Given the description of an element on the screen output the (x, y) to click on. 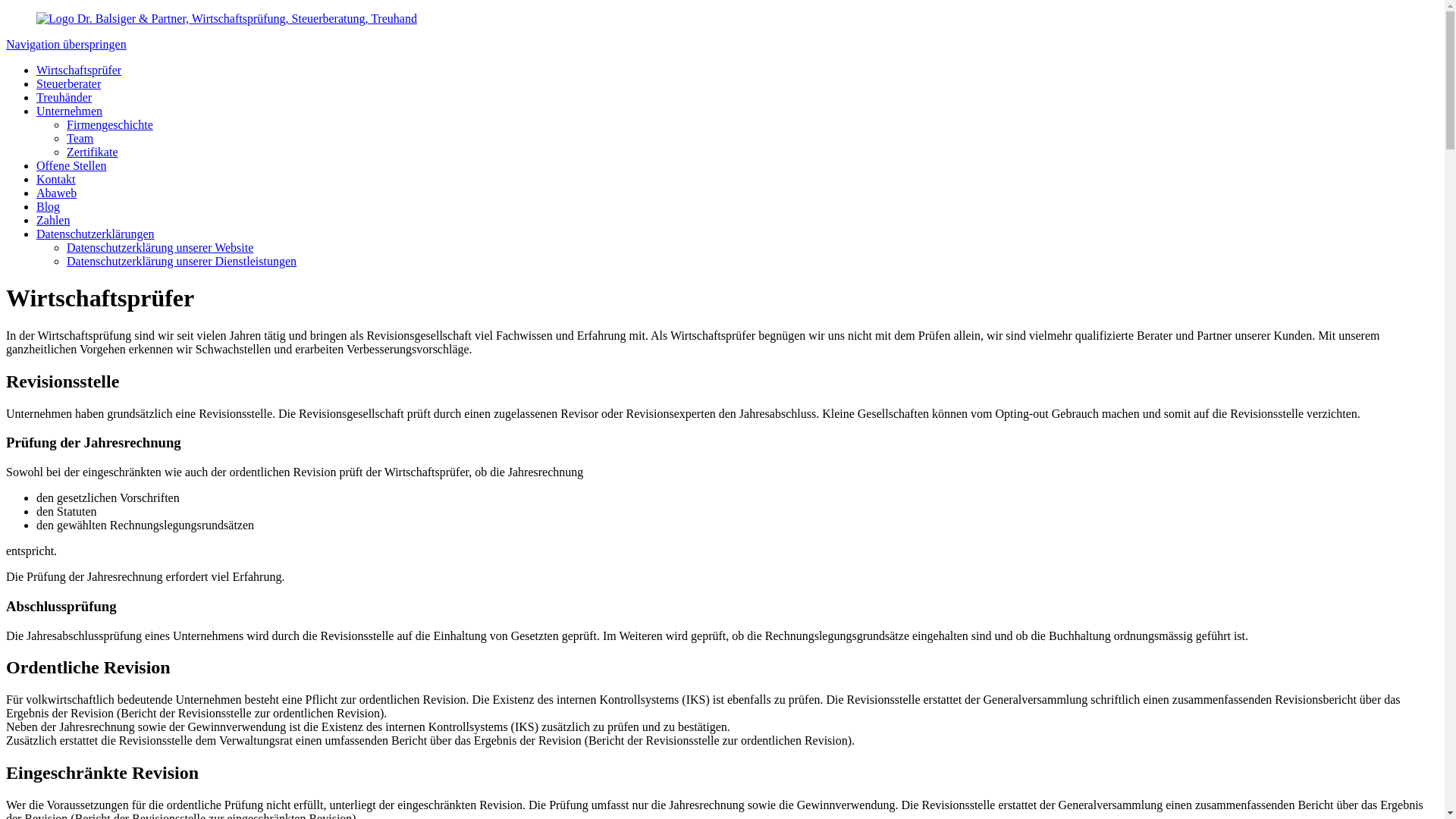
Blog Element type: text (47, 206)
Kontakt Element type: text (55, 178)
Unternehmen Element type: text (69, 110)
Firmengeschichte Element type: text (109, 124)
Team Element type: text (79, 137)
Steuerberater Element type: text (68, 83)
Zertifikate Element type: text (92, 151)
Abaweb Element type: text (56, 192)
Zahlen Element type: text (52, 219)
Offene Stellen Element type: text (71, 165)
